Given the description of an element on the screen output the (x, y) to click on. 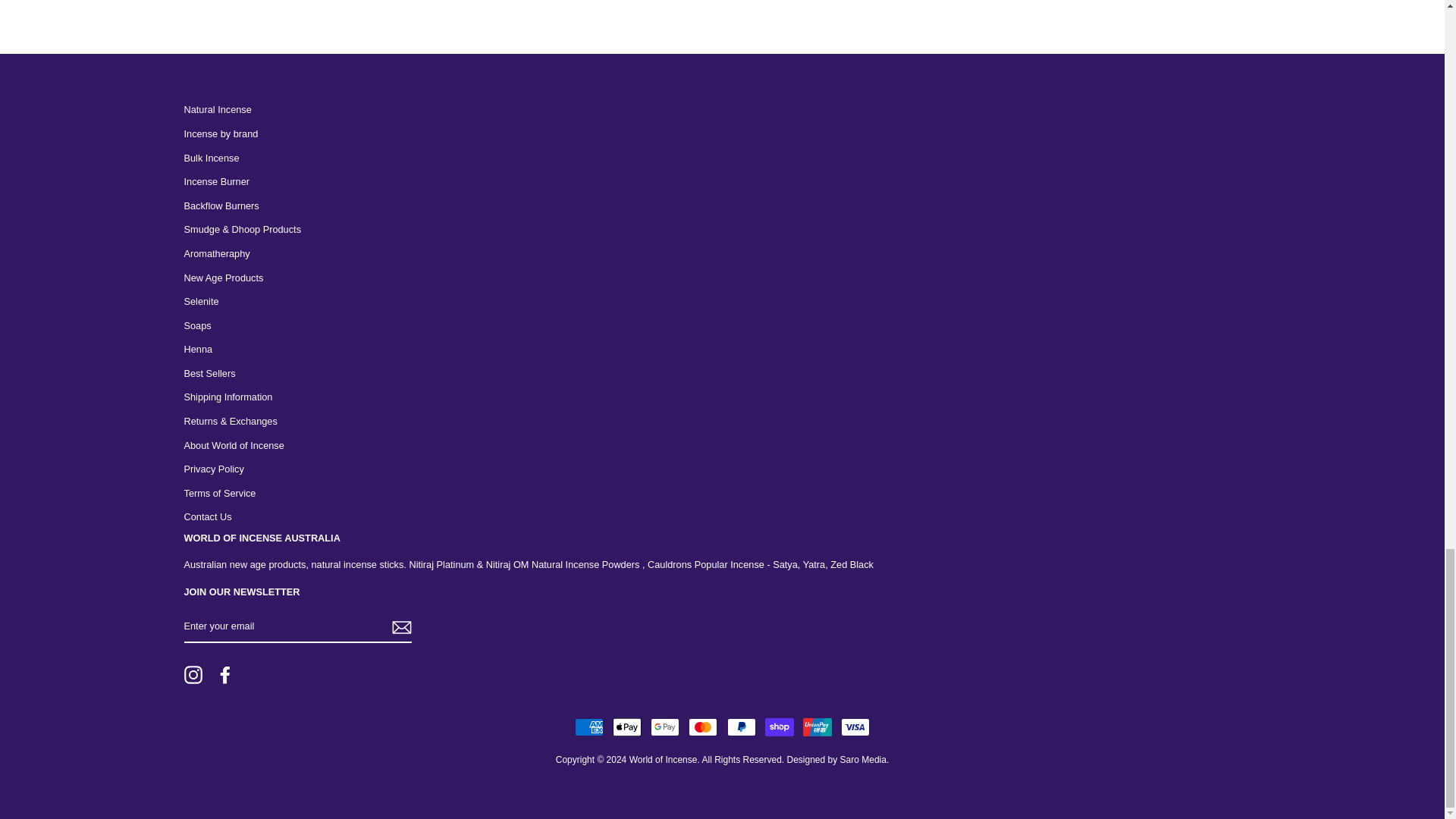
World of Incense on Facebook (224, 674)
Apple Pay (627, 727)
World of Incense on Instagram (192, 674)
Mastercard (702, 727)
PayPal (740, 727)
Google Pay (664, 727)
American Express (589, 727)
